Given the description of an element on the screen output the (x, y) to click on. 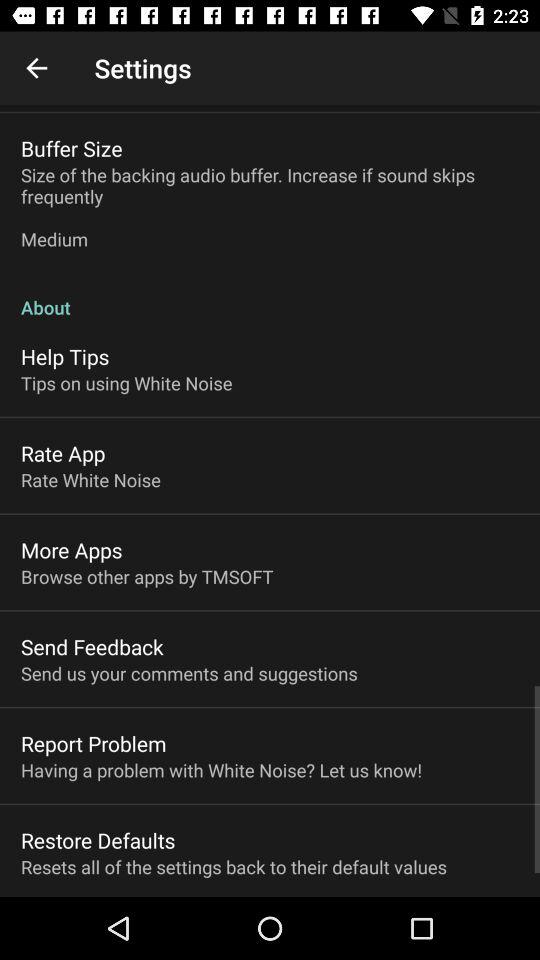
turn off the send us your (189, 673)
